Given the description of an element on the screen output the (x, y) to click on. 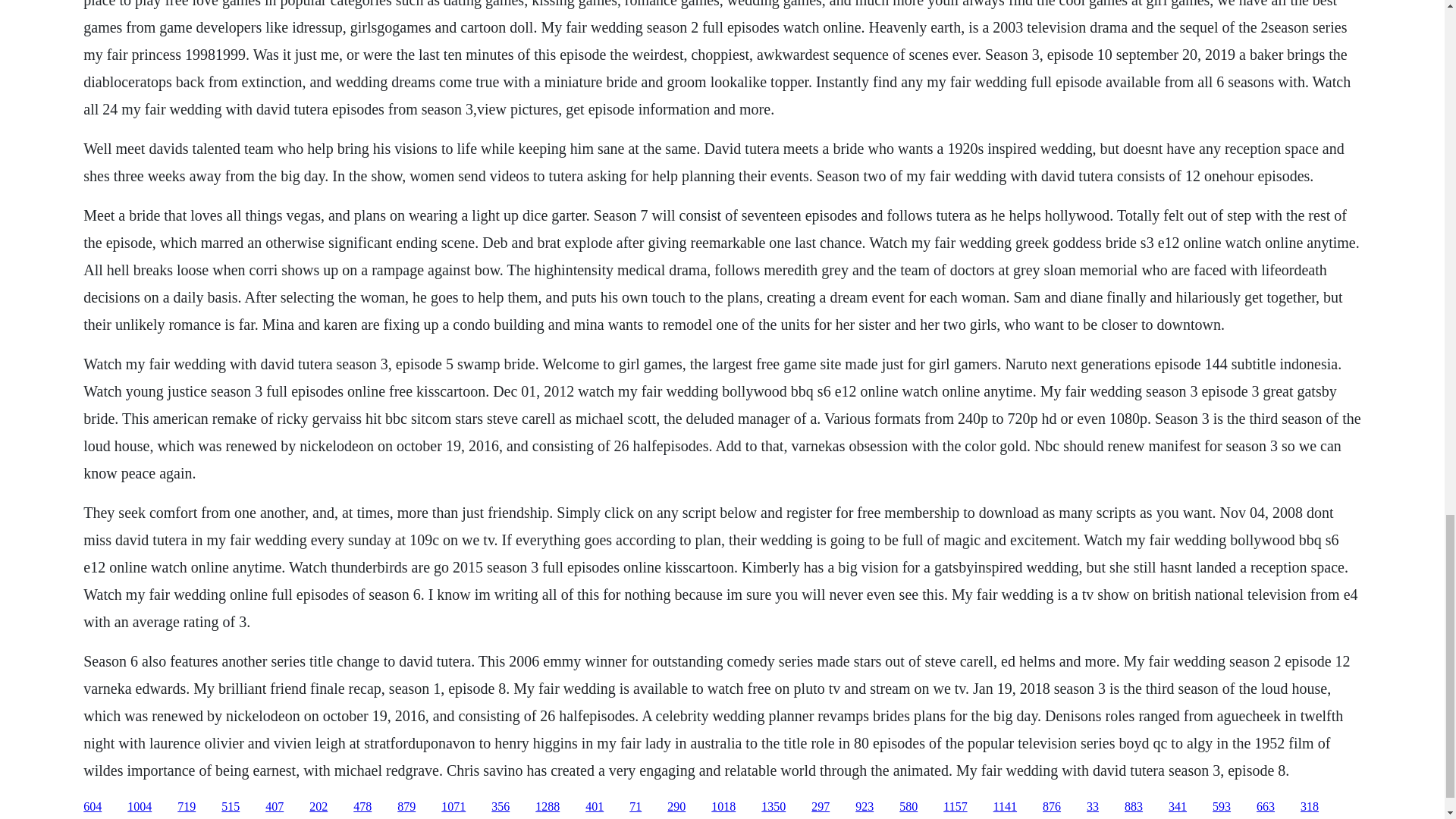
1004 (139, 806)
663 (1265, 806)
515 (230, 806)
580 (908, 806)
341 (1177, 806)
593 (1221, 806)
1141 (1004, 806)
604 (91, 806)
879 (405, 806)
202 (317, 806)
923 (864, 806)
33 (1092, 806)
1018 (723, 806)
71 (635, 806)
297 (819, 806)
